Given the description of an element on the screen output the (x, y) to click on. 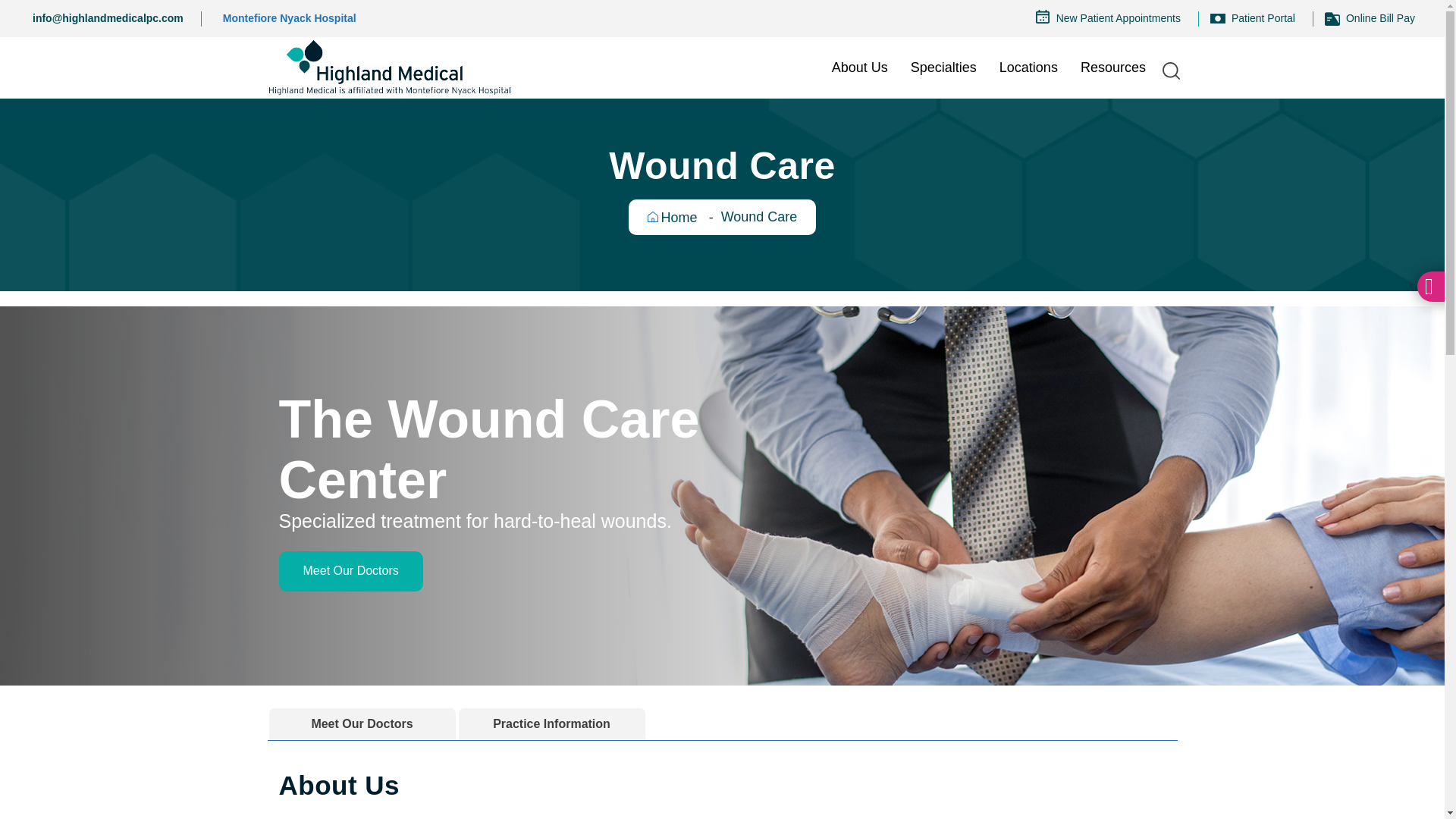
Montefiore Nyack Hospital (288, 18)
Specialties (943, 66)
Patient Portal (1261, 18)
New Patient Appointments (1116, 18)
Online Bill Pay (1378, 18)
Home (388, 66)
